Given the description of an element on the screen output the (x, y) to click on. 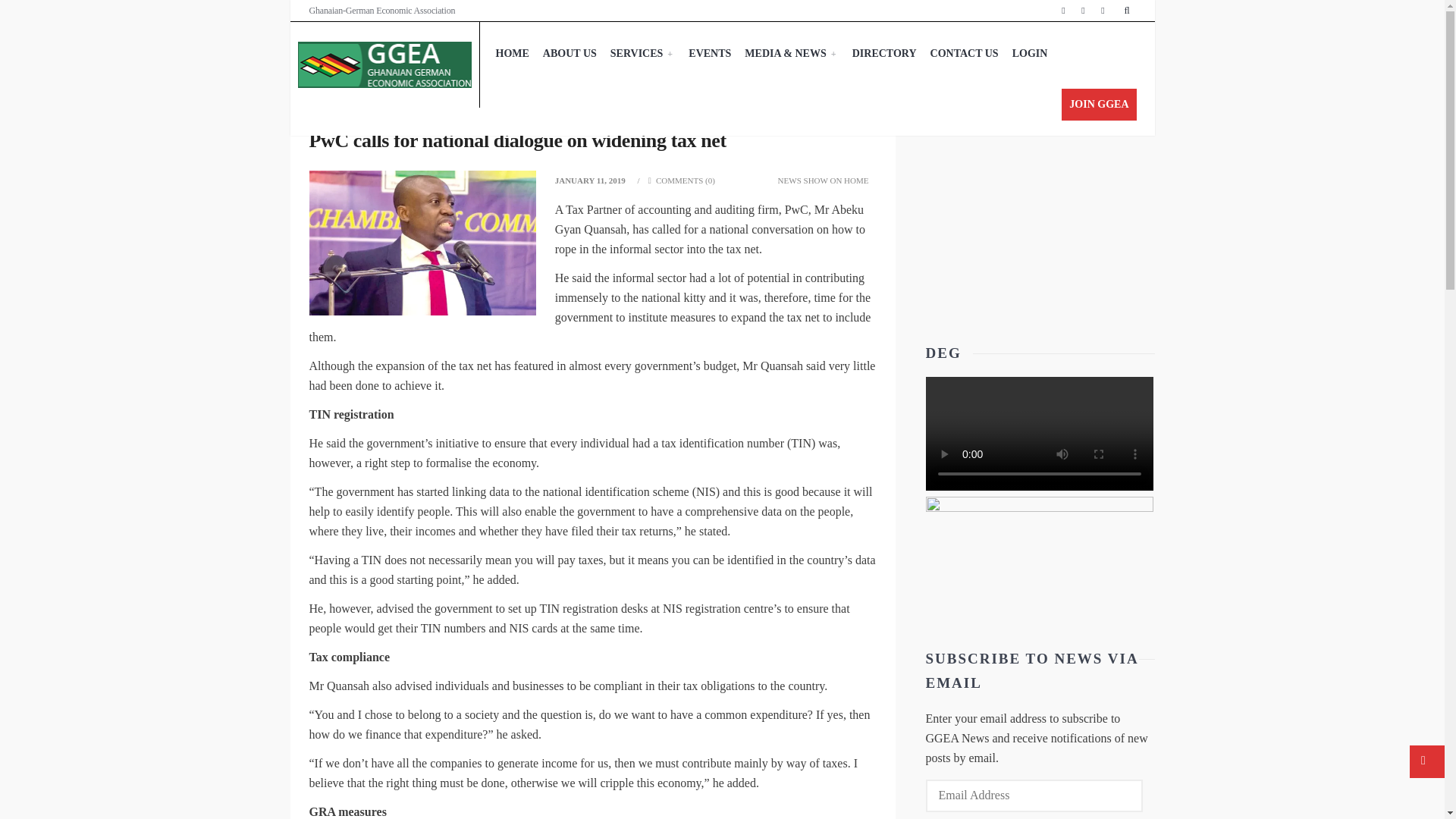
Facebook (1062, 10)
LinkedIn (1102, 10)
NEWS (789, 180)
JOIN GGEA (1098, 104)
Twitter (1083, 10)
DIRECTORY (884, 54)
SERVICES (643, 54)
CONTACT US (964, 54)
LOGIN (1030, 54)
ABOUT US (569, 54)
PwC calls for national dialogue on widening tax net (517, 140)
HOME (511, 54)
EVENTS (709, 54)
SHOW ON HOME (836, 180)
